Given the description of an element on the screen output the (x, y) to click on. 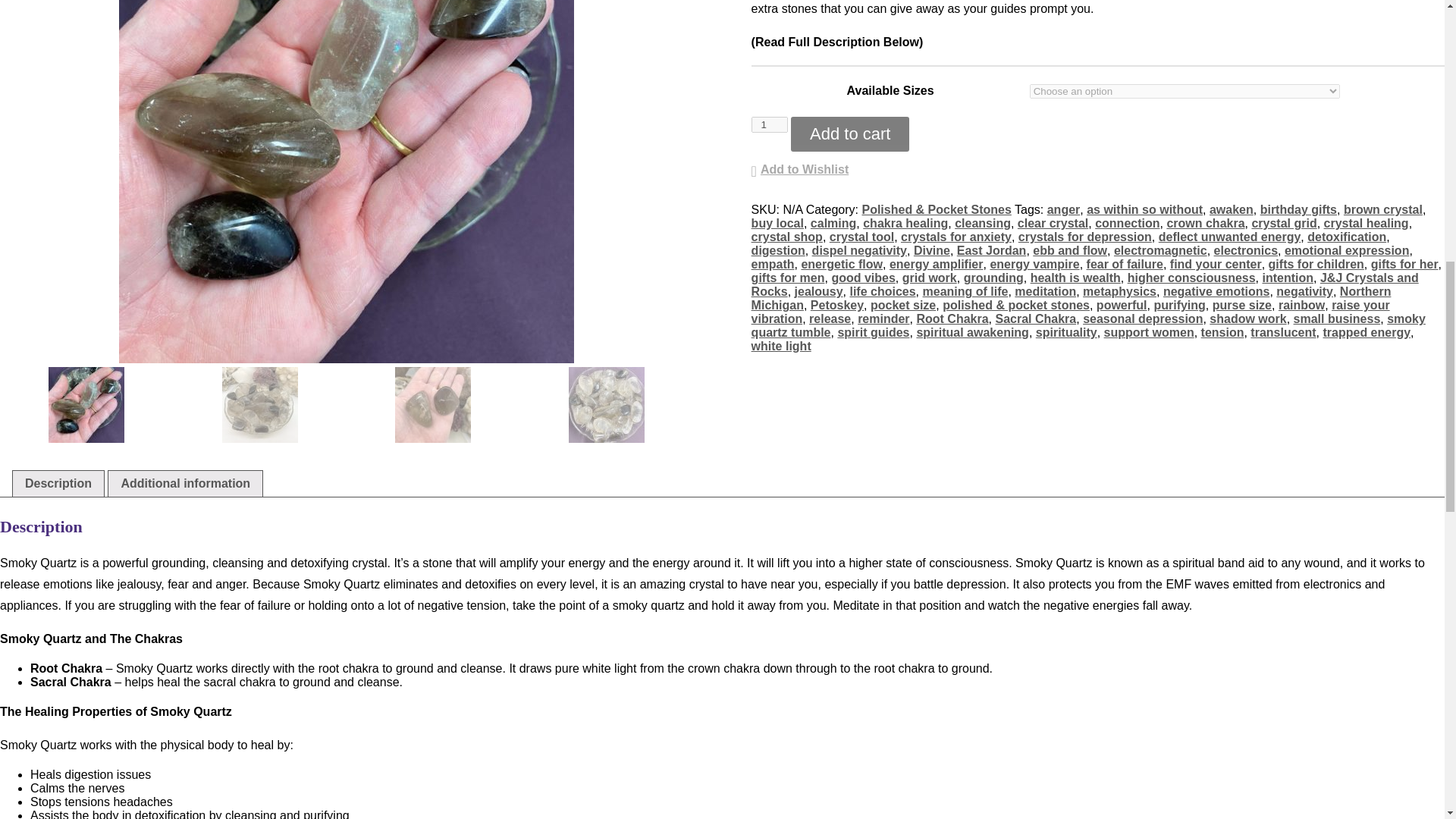
Add to cart (849, 134)
anger (1063, 209)
1 (769, 124)
as within so without (1144, 209)
Add to Wishlist (799, 170)
